Given the description of an element on the screen output the (x, y) to click on. 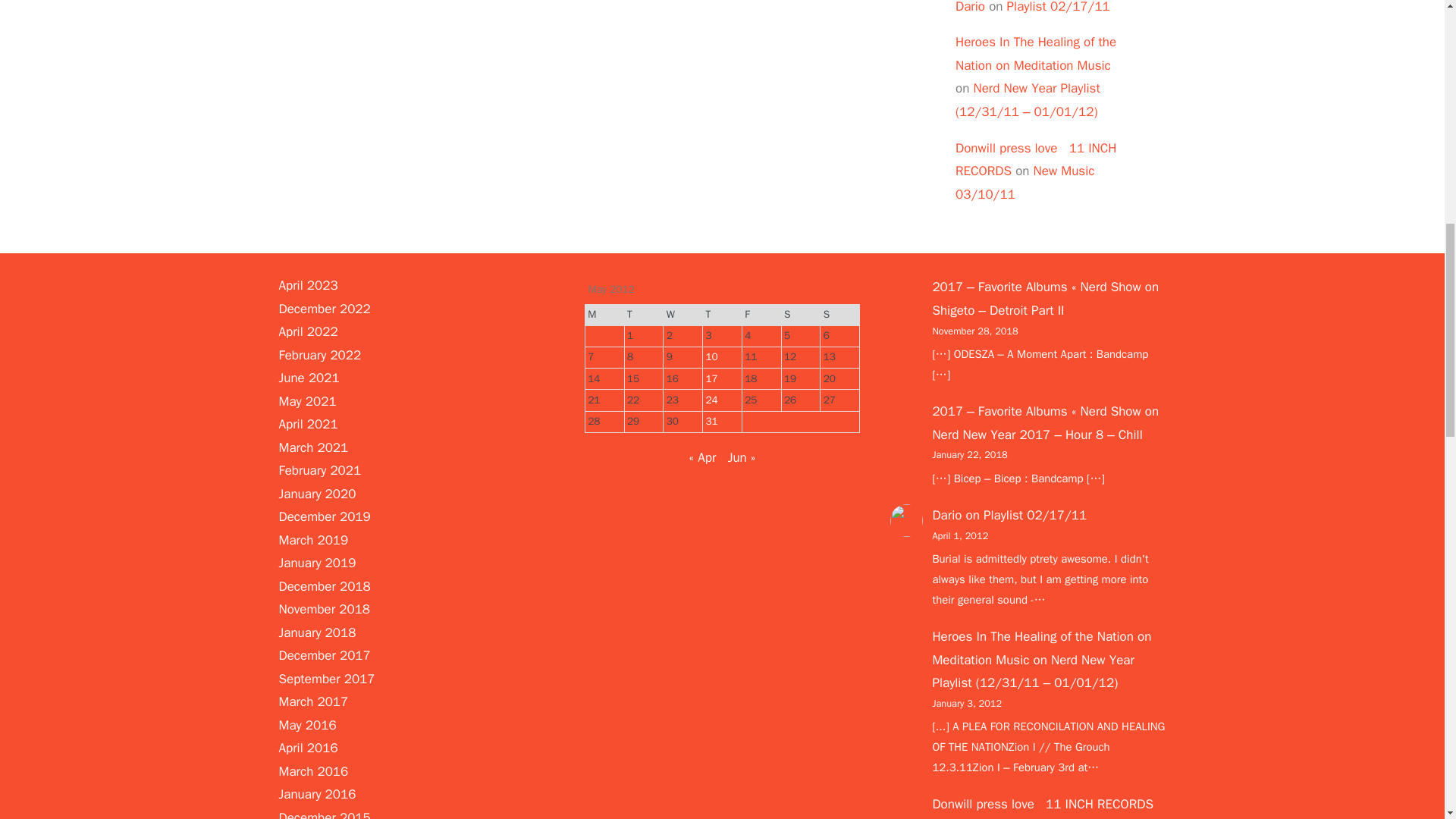
Wednesday (683, 314)
April 2023 (308, 285)
Heroes In The Healing of the Nation on Meditation Music (1035, 53)
Monday (604, 314)
Dario (970, 7)
Thursday (722, 314)
Friday (760, 314)
December 2022 (325, 308)
Tuesday (643, 314)
February 2022 (320, 355)
Donwill press love   11 INCH RECORDS (1035, 159)
June 2021 (309, 377)
April 2022 (308, 331)
